Given the description of an element on the screen output the (x, y) to click on. 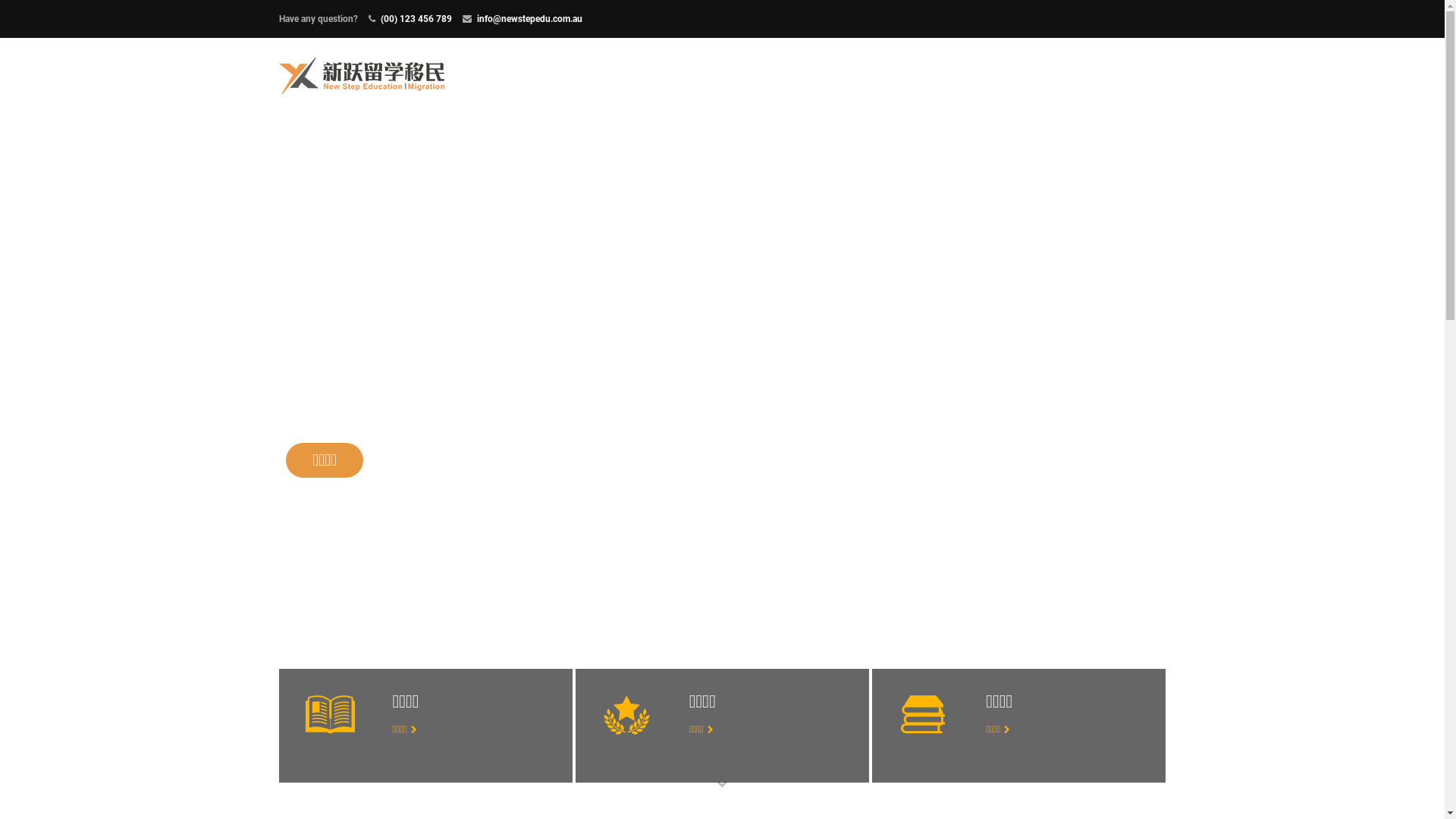
logo-top-1 Element type: hover (626, 714)
info@newstepedu.com.au Element type: text (528, 18)
(00) 123 456 789 Element type: text (415, 18)
logo-top-3 Element type: hover (922, 714)
logo-top-2 Element type: hover (329, 714)
